Given the description of an element on the screen output the (x, y) to click on. 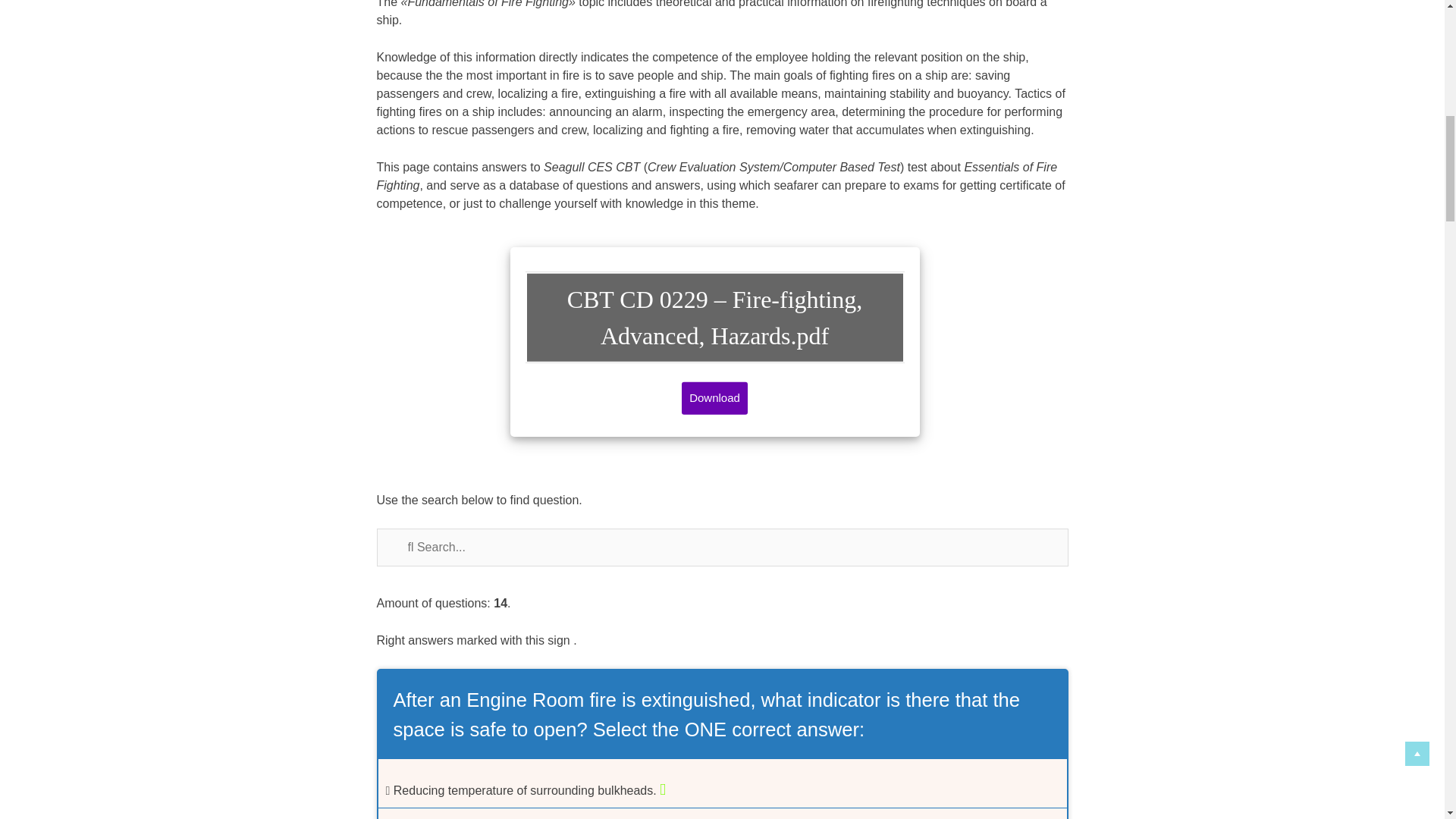
Write a question or one word (721, 547)
